Given the description of an element on the screen output the (x, y) to click on. 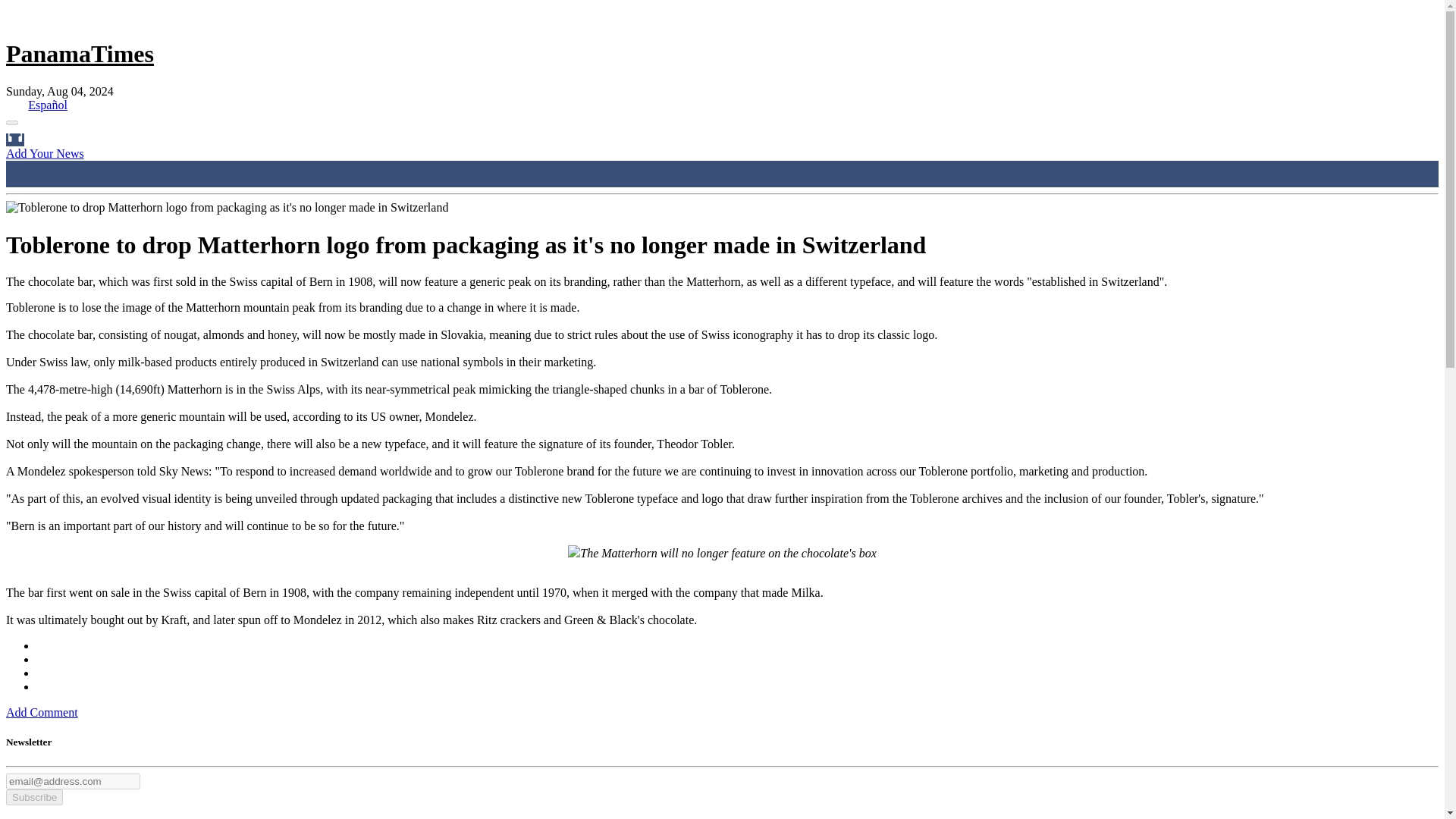
Subscribe (33, 797)
PanamaTimes (79, 53)
Add Your News (44, 153)
Add Comment (41, 712)
